Given the description of an element on the screen output the (x, y) to click on. 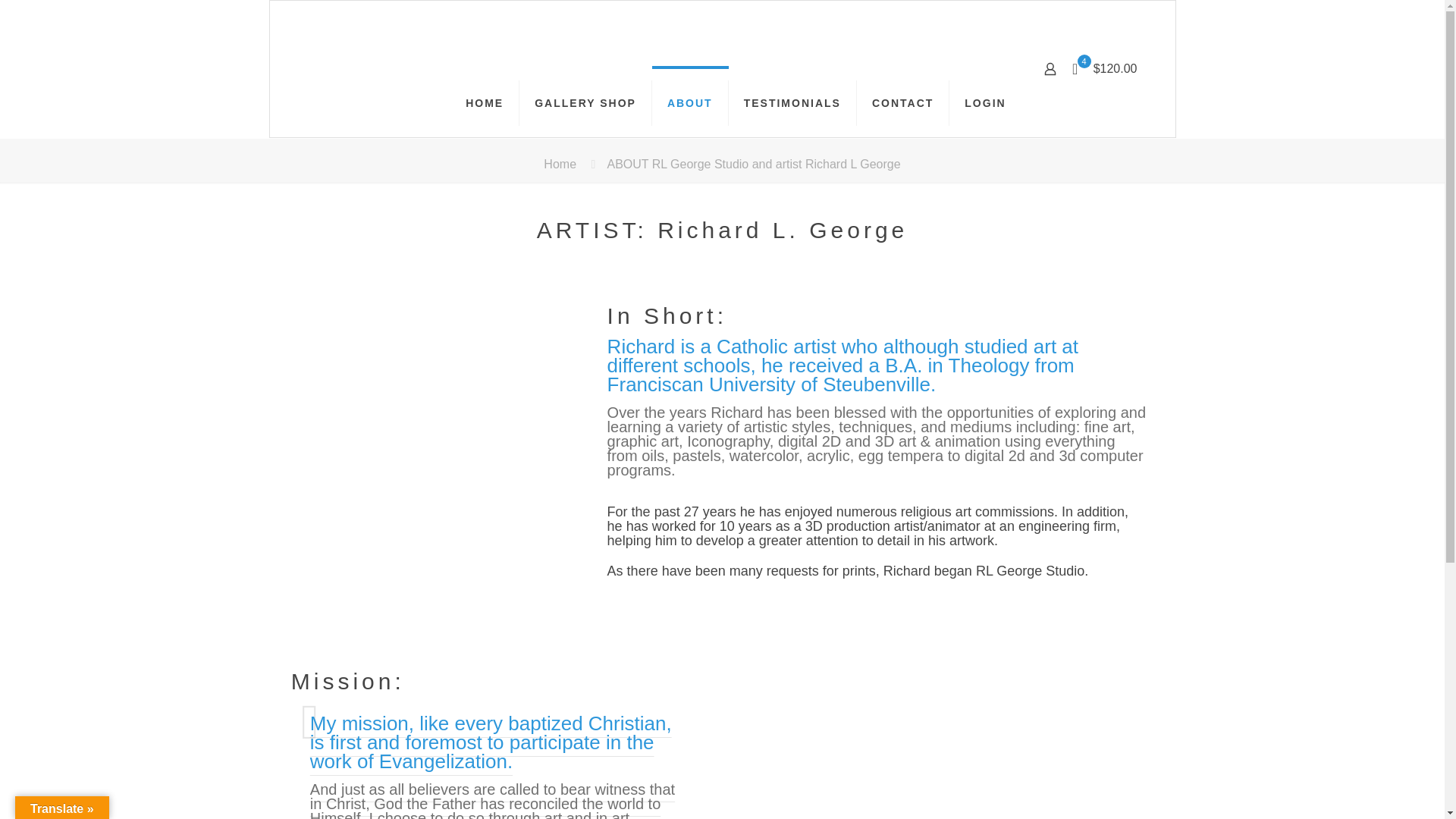
LOGIN (984, 102)
RL George Studio (398, 34)
TESTIMONIALS (793, 102)
CONTACT (903, 102)
Home (559, 164)
ABOUT RL George Studio and artist Richard L George (753, 164)
HOME (484, 102)
GALLERY SHOP (585, 102)
ABOUT (690, 102)
